Given the description of an element on the screen output the (x, y) to click on. 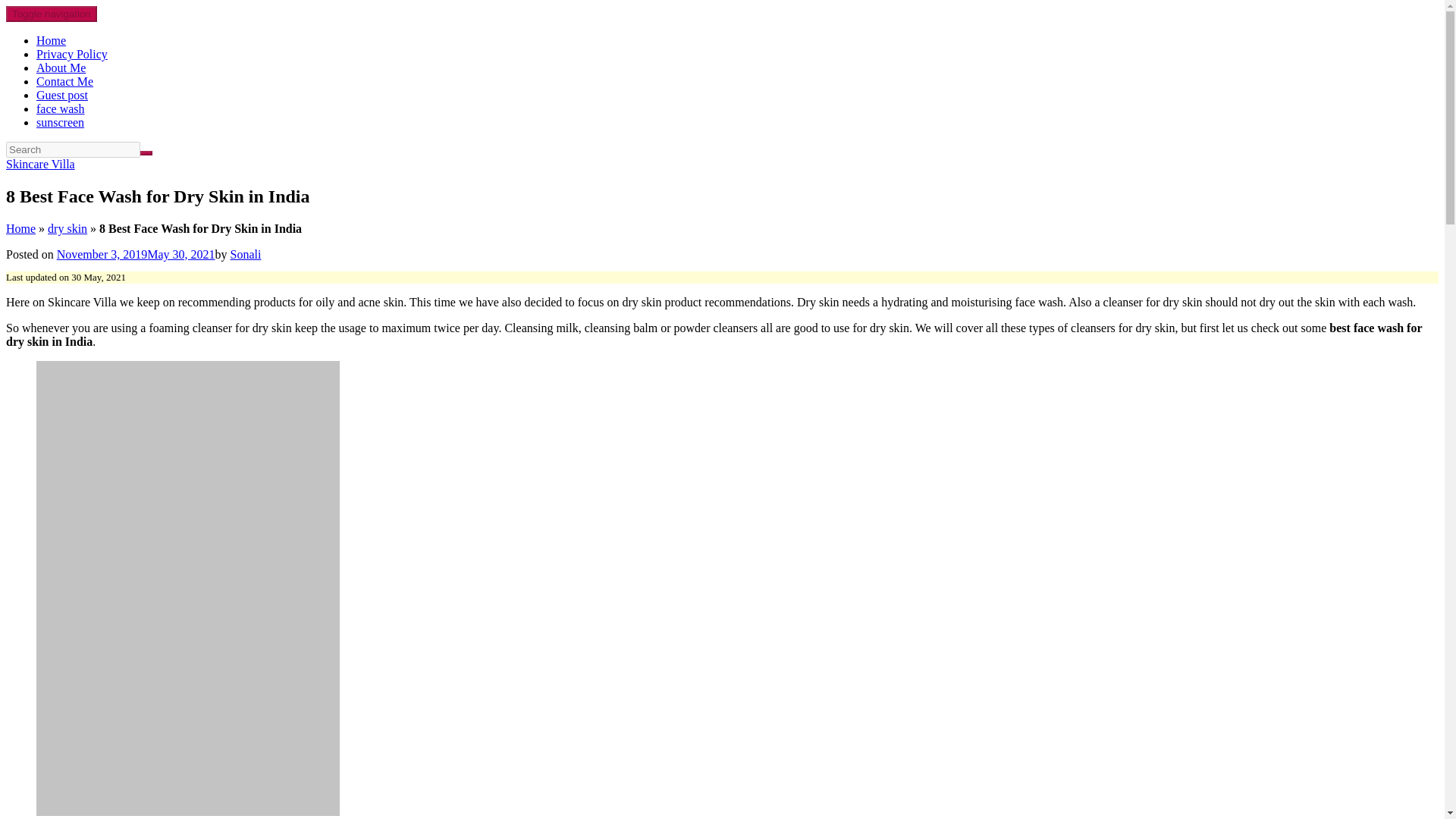
Home (50, 40)
Privacy Policy (71, 53)
About Me (60, 67)
Search (145, 152)
face wash (60, 108)
Home (19, 228)
Guest post (61, 94)
Privacy Policy (71, 53)
Sonali (246, 254)
Guest post (61, 94)
